Given the description of an element on the screen output the (x, y) to click on. 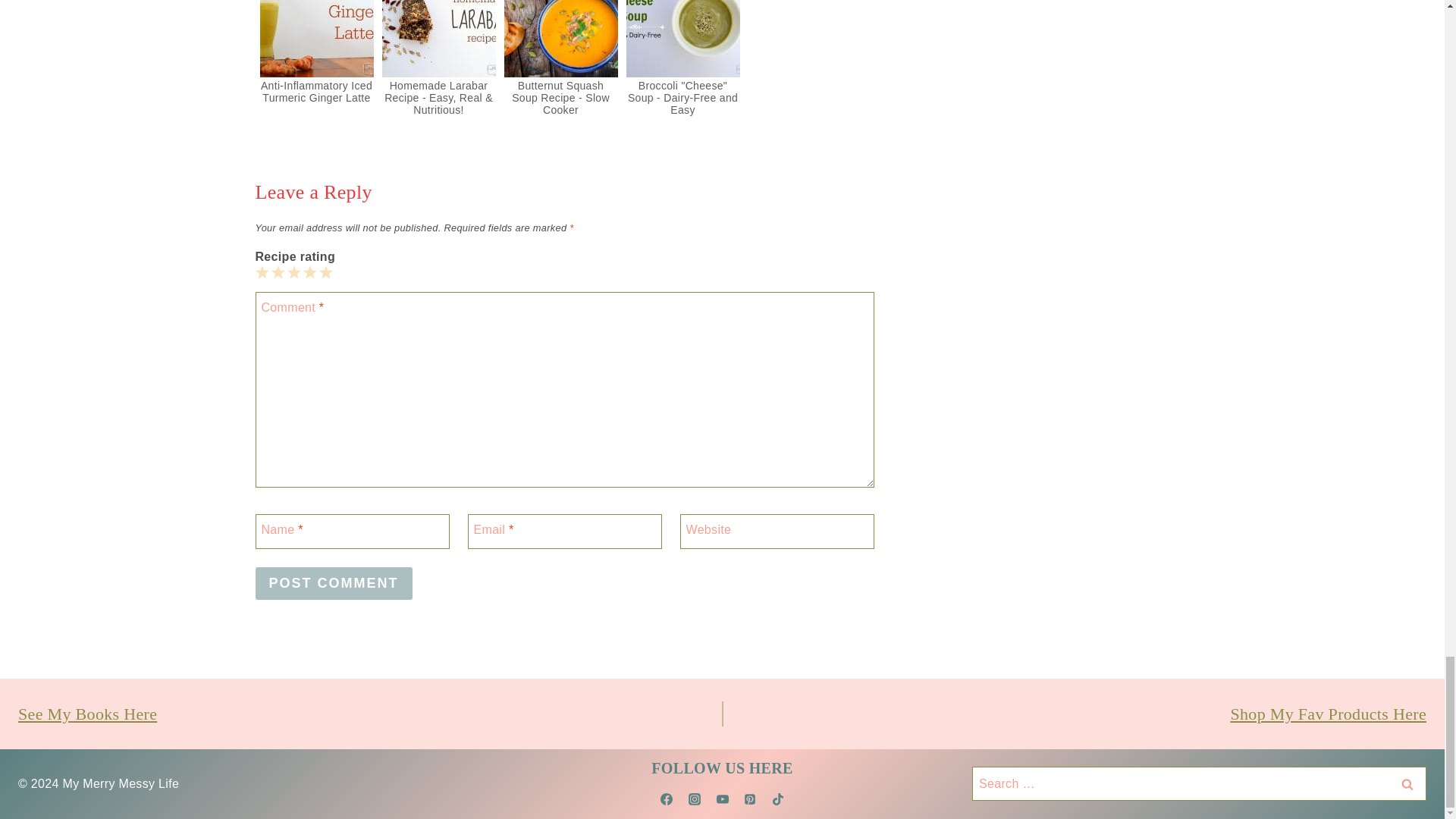
Post Comment (333, 583)
Search (1407, 783)
Search (1407, 783)
